Given the description of an element on the screen output the (x, y) to click on. 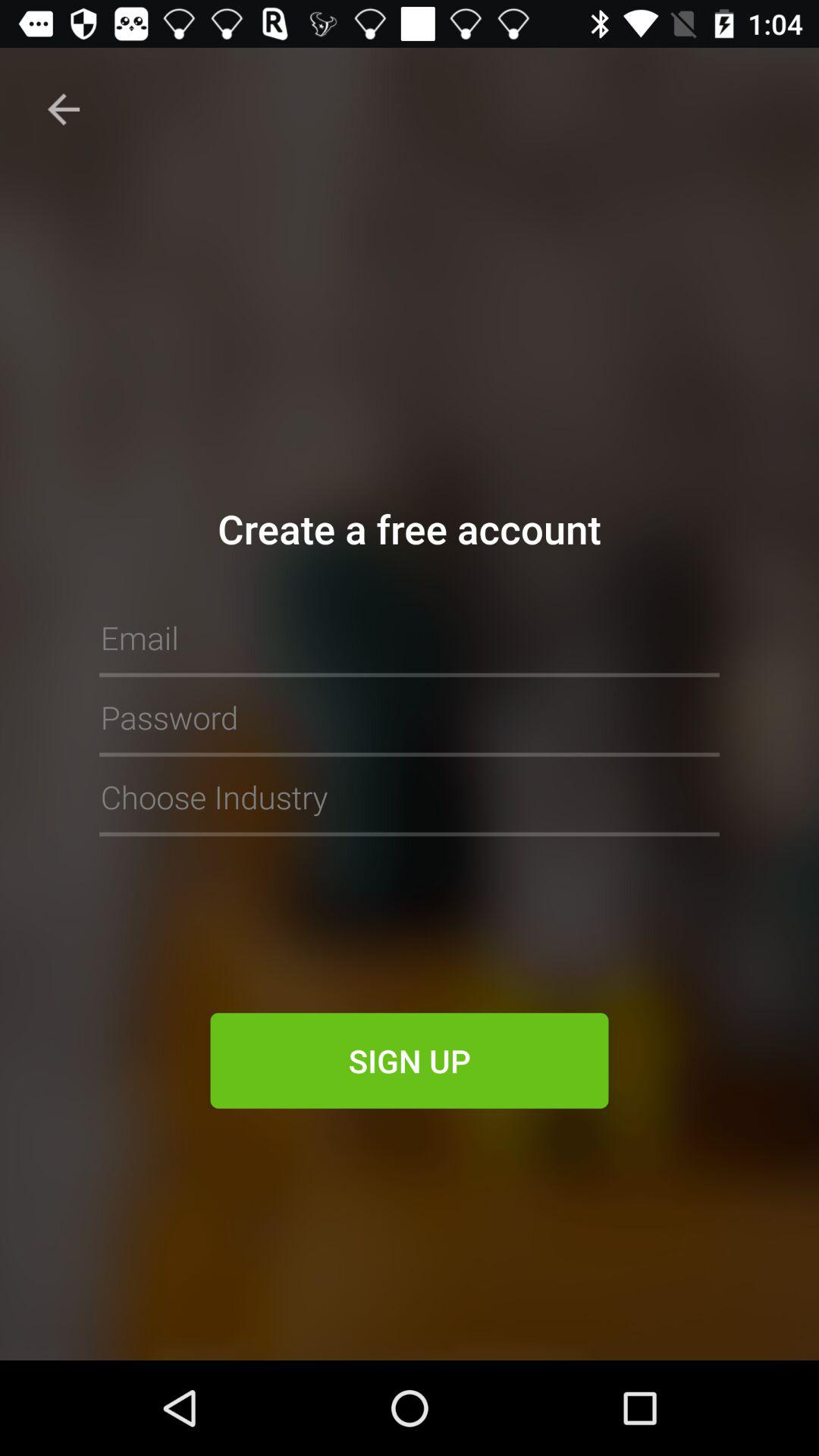
back (63, 109)
